Given the description of an element on the screen output the (x, y) to click on. 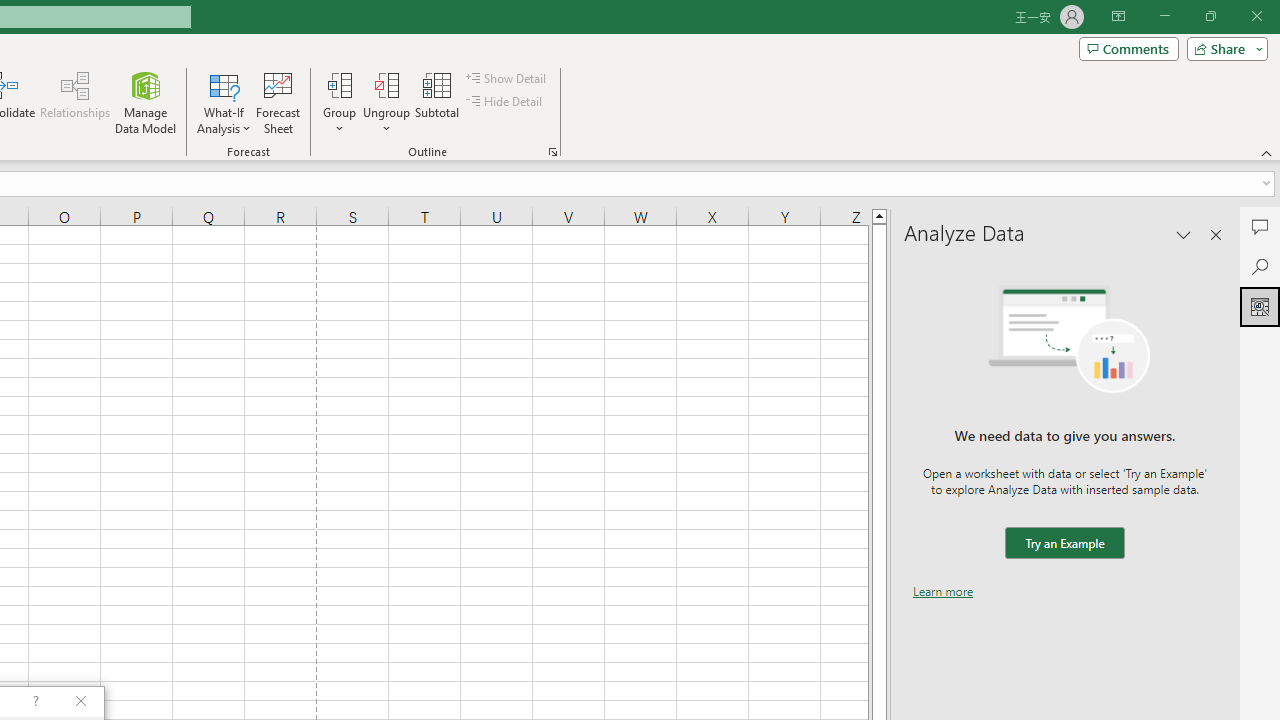
Analyze Data (1260, 306)
We need data to give you answers. Try an Example (1064, 543)
Group and Outline Settings (552, 151)
Manage Data Model (145, 102)
Subtotal (437, 102)
Learn more (943, 591)
Relationships (75, 102)
